Given the description of an element on the screen output the (x, y) to click on. 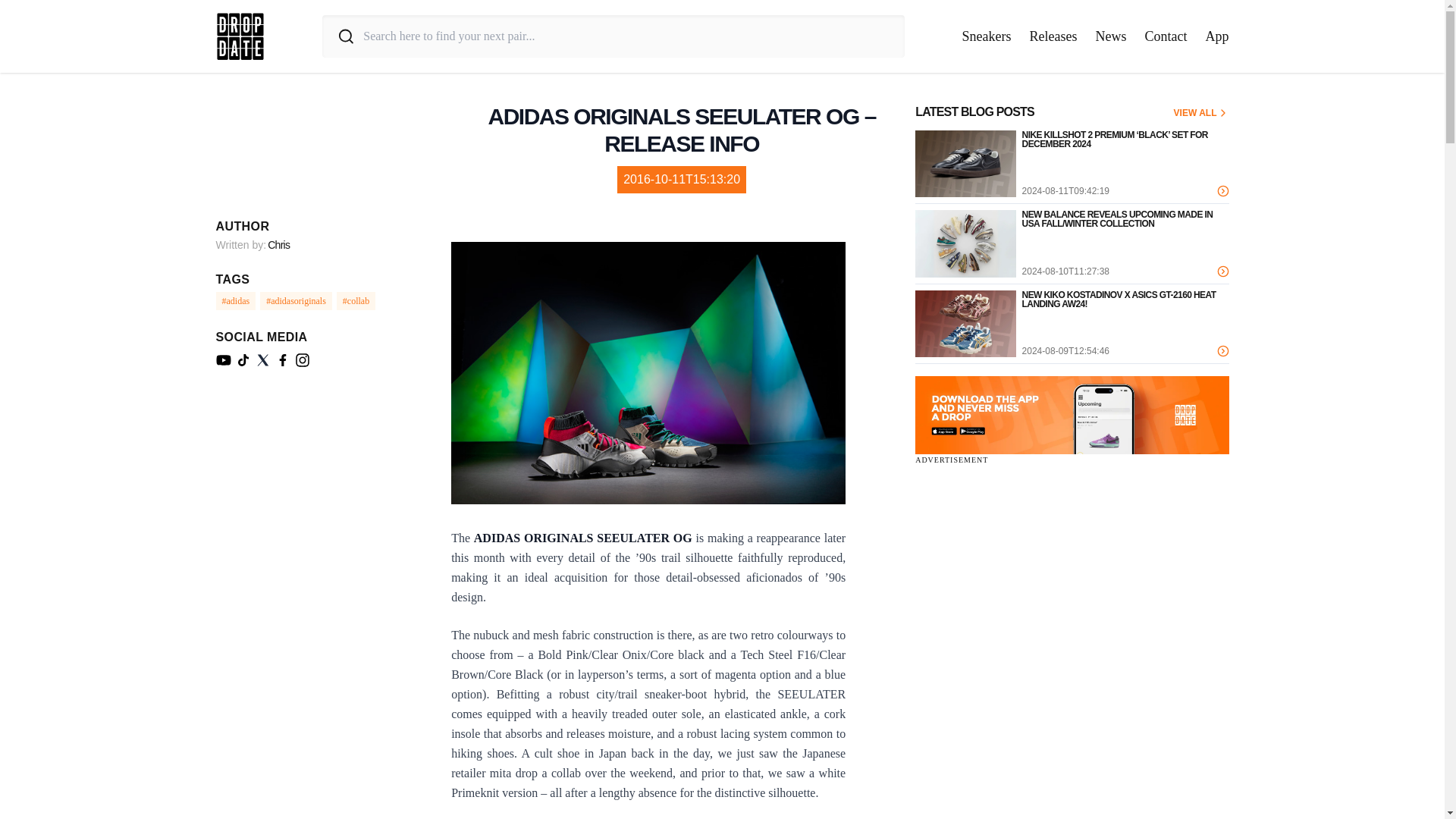
Sneakers (986, 36)
Contact (1166, 36)
App (1216, 36)
VIEW ALL (1200, 112)
Releases (1053, 36)
News (1109, 36)
